Given the description of an element on the screen output the (x, y) to click on. 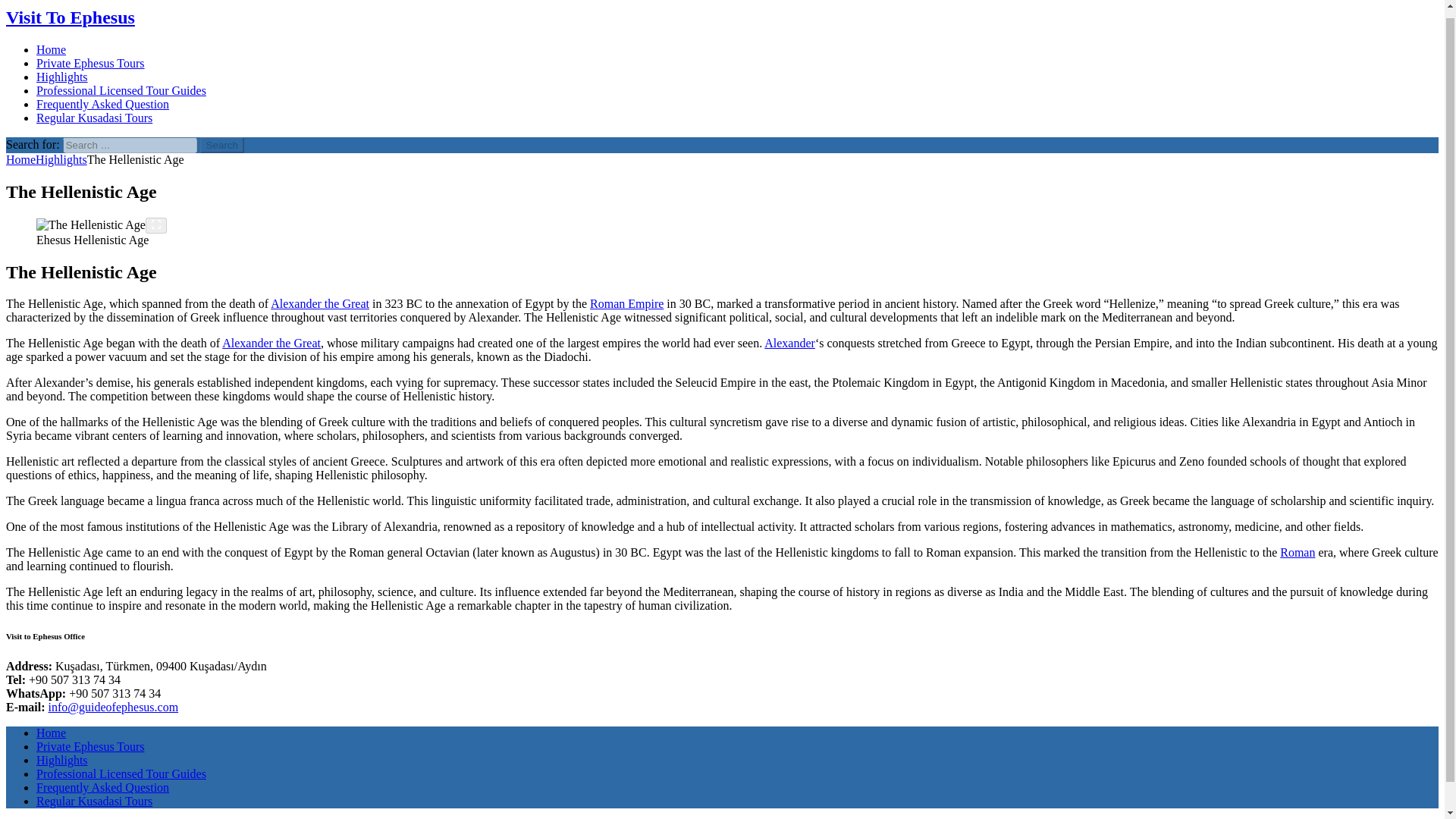
Alexander the Great (789, 342)
Home (50, 732)
Home (19, 159)
Regular Kusadasi Tours (94, 800)
Home (50, 49)
Roman Empire (626, 303)
Alexander (789, 342)
Private Ephesus Tours (90, 62)
Professional Licensed Tour Guides (121, 773)
Highlights (60, 159)
